Given the description of an element on the screen output the (x, y) to click on. 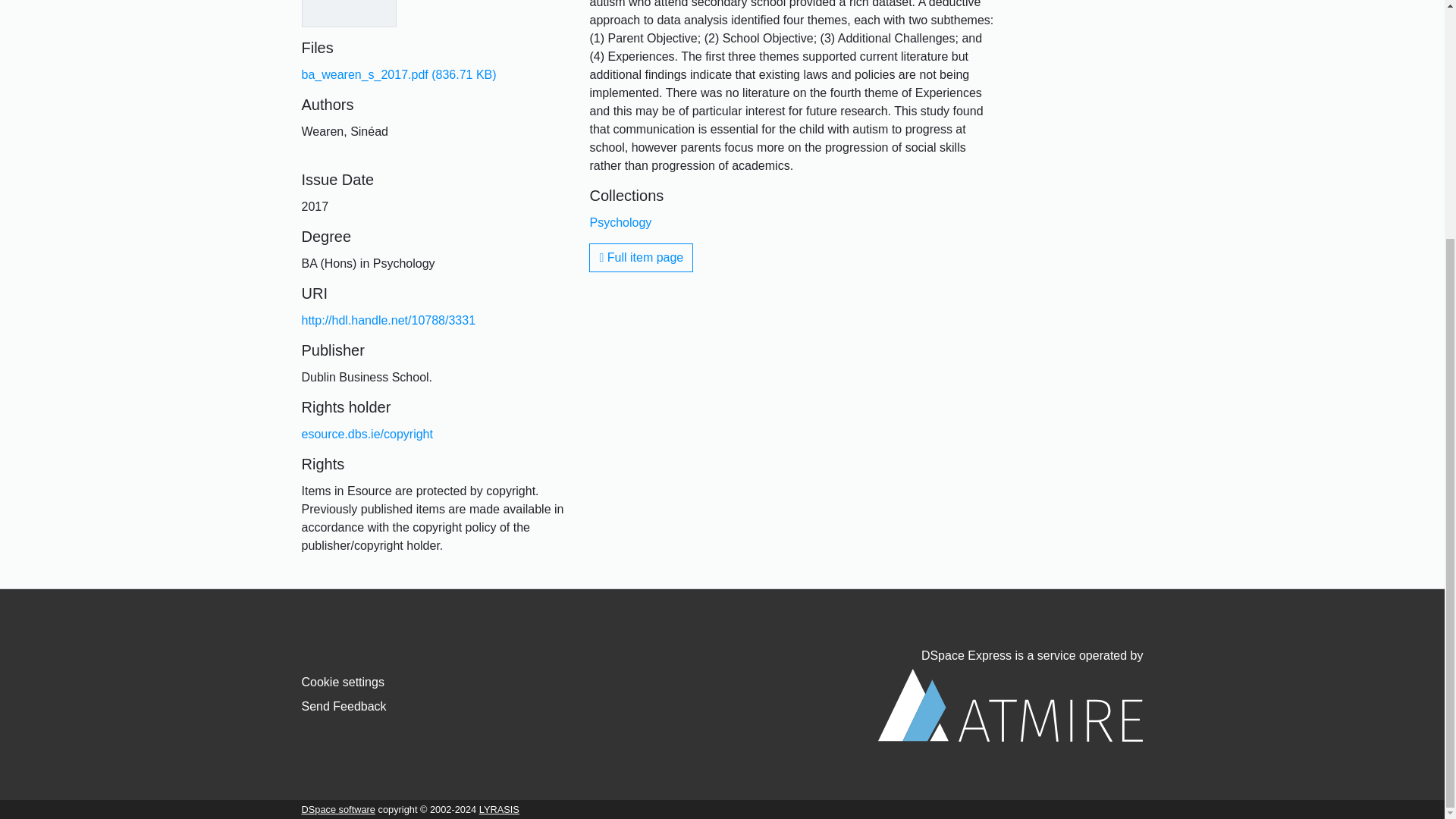
Full item page (641, 257)
Cookie settings (342, 681)
Psychology (619, 222)
DSpace Express is a service operated by (1009, 695)
LYRASIS (499, 808)
DSpace software (338, 808)
Send Feedback (344, 706)
